Given the description of an element on the screen output the (x, y) to click on. 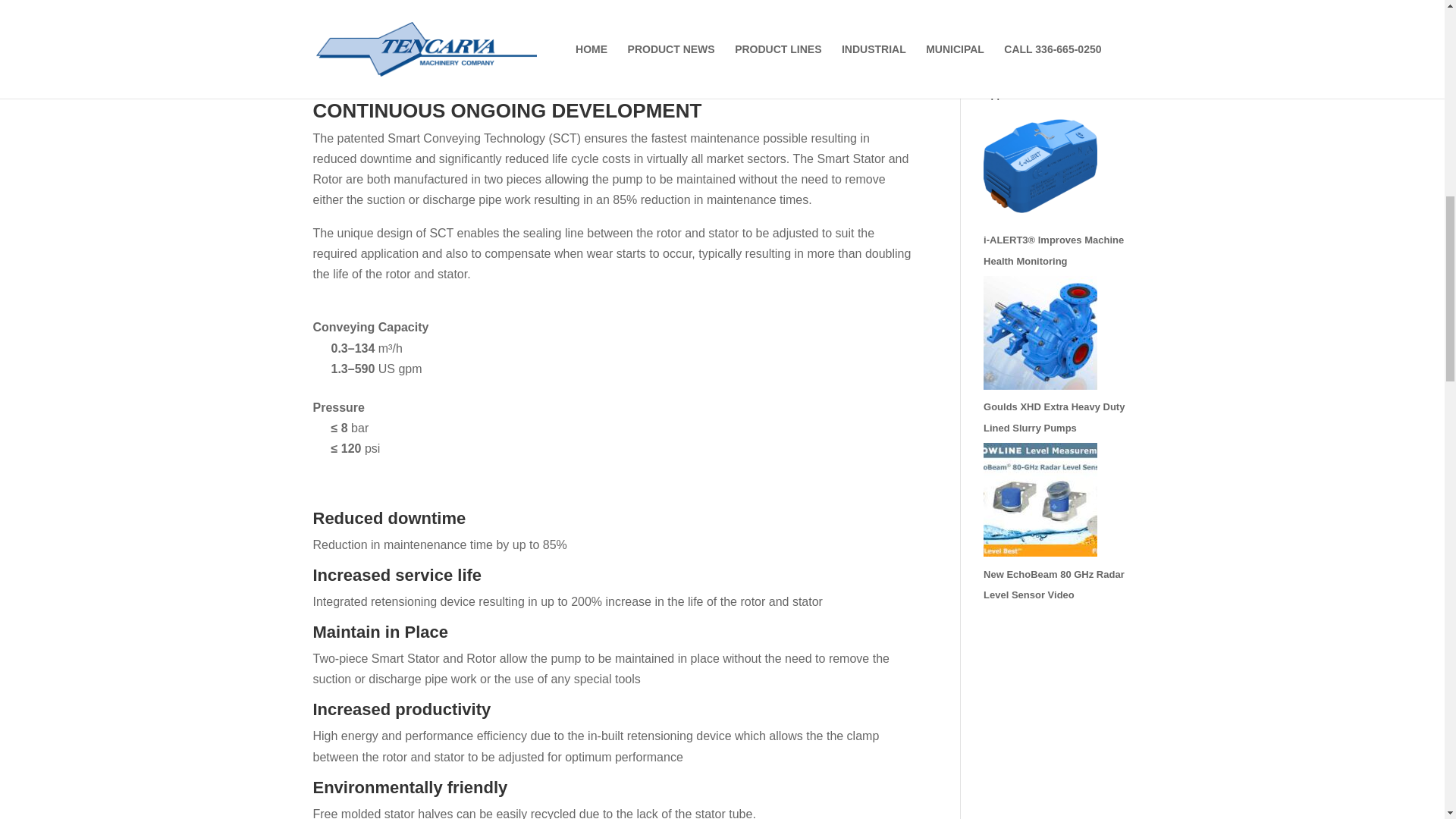
retrofit option (532, 26)
CONTINUOUS ONGOING DEVELOPMENT (614, 113)
Goulds XHD Extra Heavy Duty Lined Slurry Pumps (1054, 417)
